Given the description of an element on the screen output the (x, y) to click on. 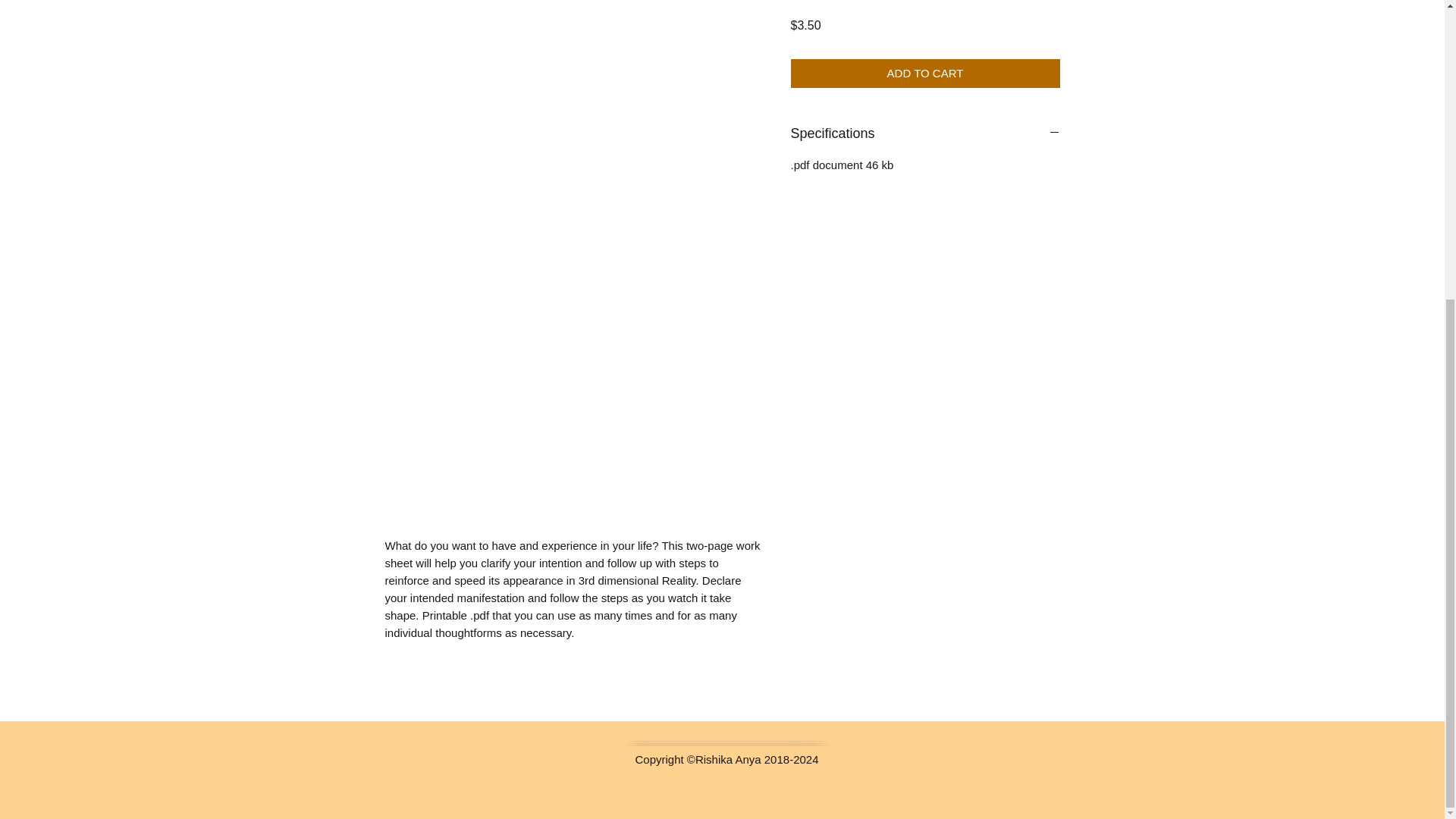
Specifications (924, 133)
ADD TO CART (924, 73)
